Given the description of an element on the screen output the (x, y) to click on. 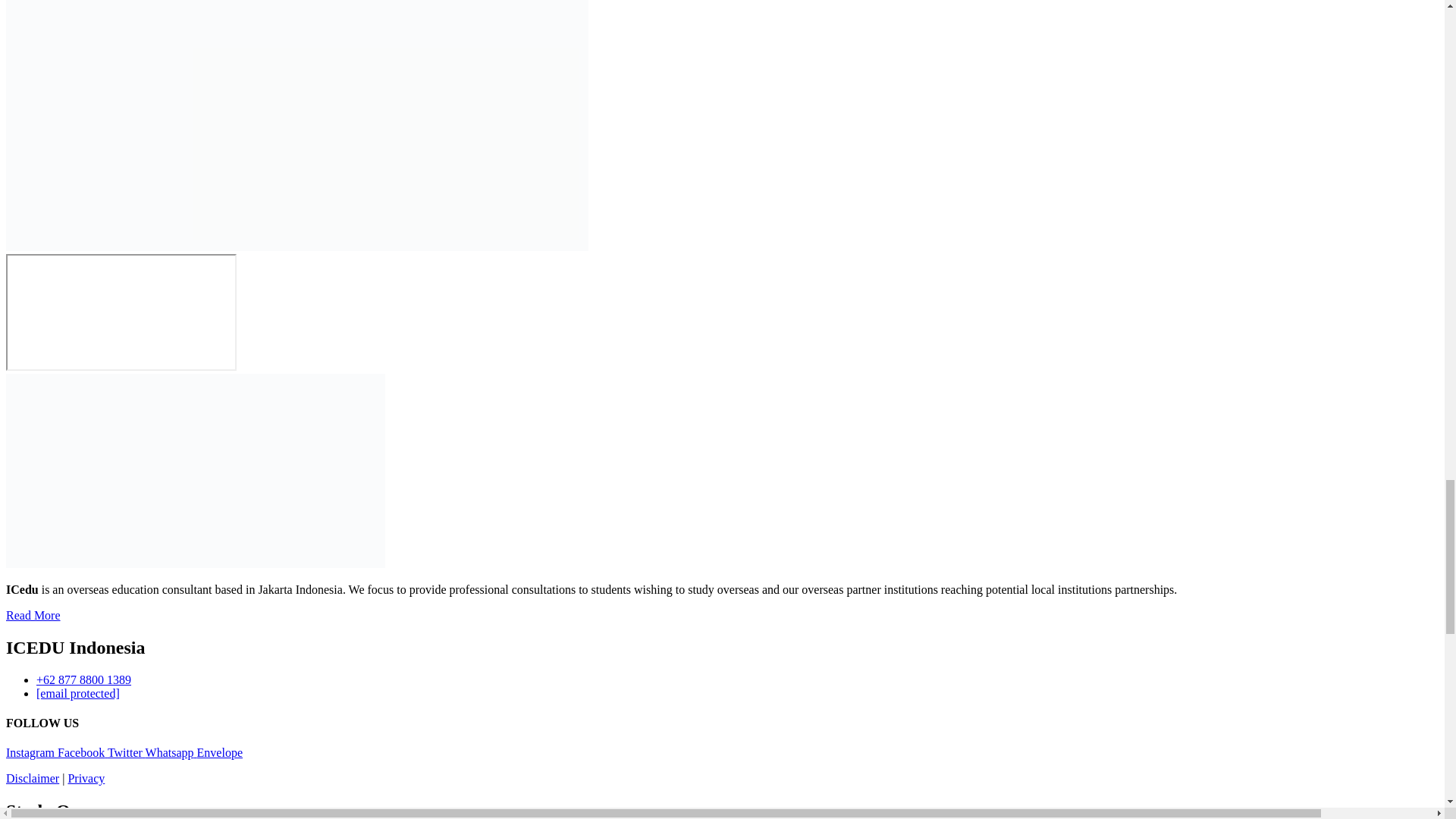
youtube Video Player (120, 312)
